Given the description of an element on the screen output the (x, y) to click on. 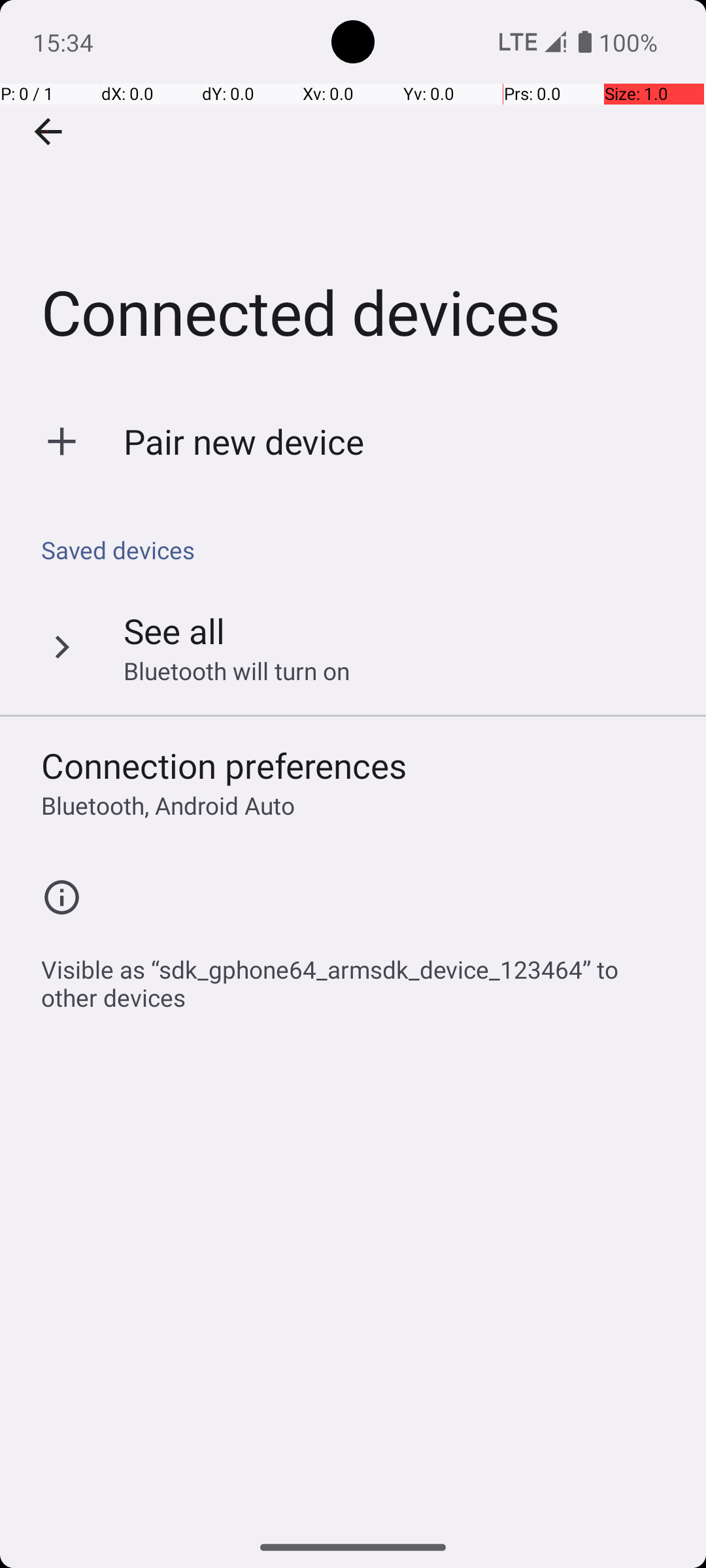
See all Element type: android.widget.TextView (173, 630)
Bluetooth will turn on Element type: android.widget.TextView (236, 670)
Bluetooth, Android Auto Element type: android.widget.TextView (167, 804)
Visible as “sdk_gphone64_armsdk_device_123464” to other devices Element type: android.widget.TextView (359, 976)
